Given the description of an element on the screen output the (x, y) to click on. 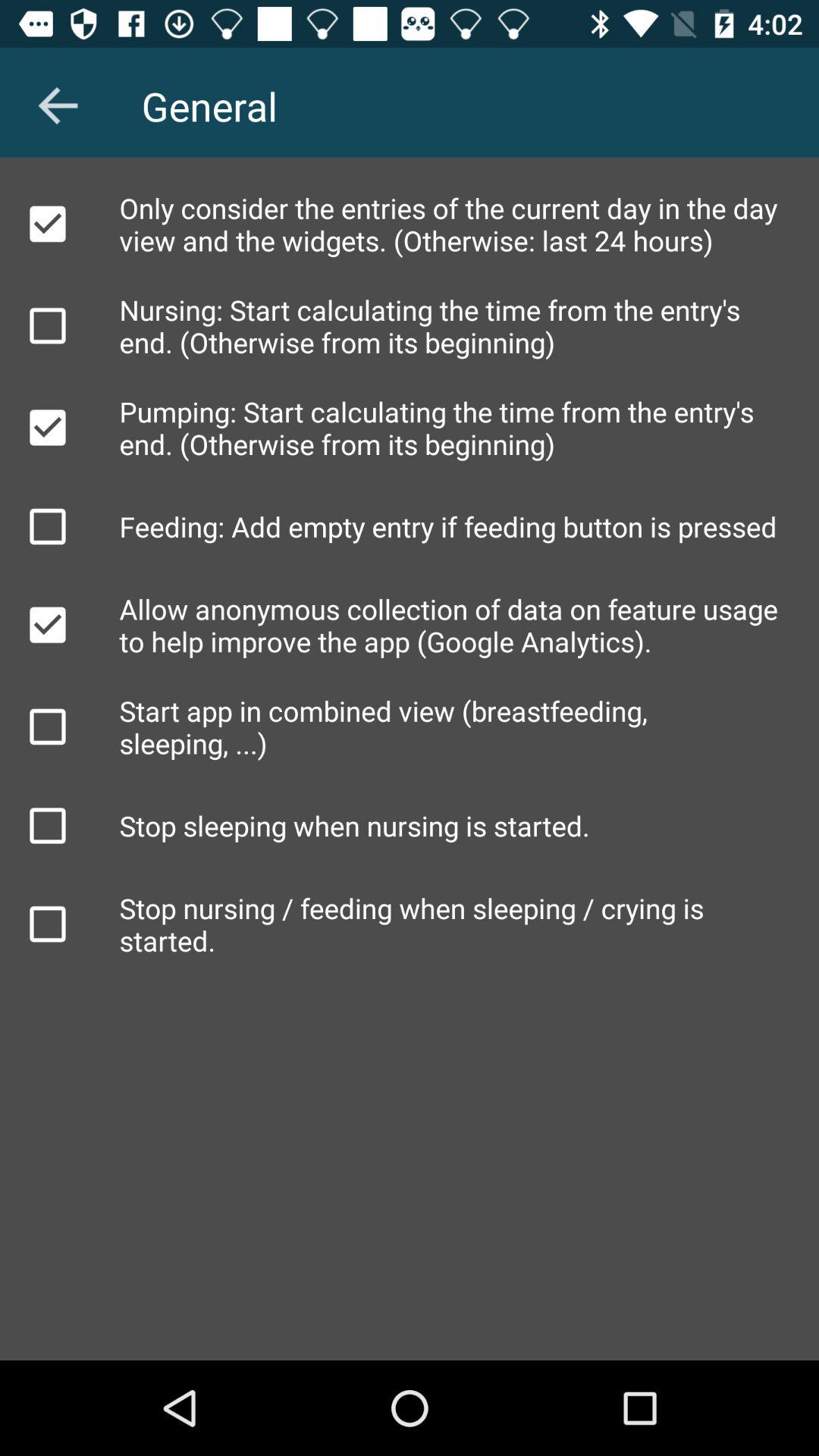
select item to the left of general icon (57, 105)
